Given the description of an element on the screen output the (x, y) to click on. 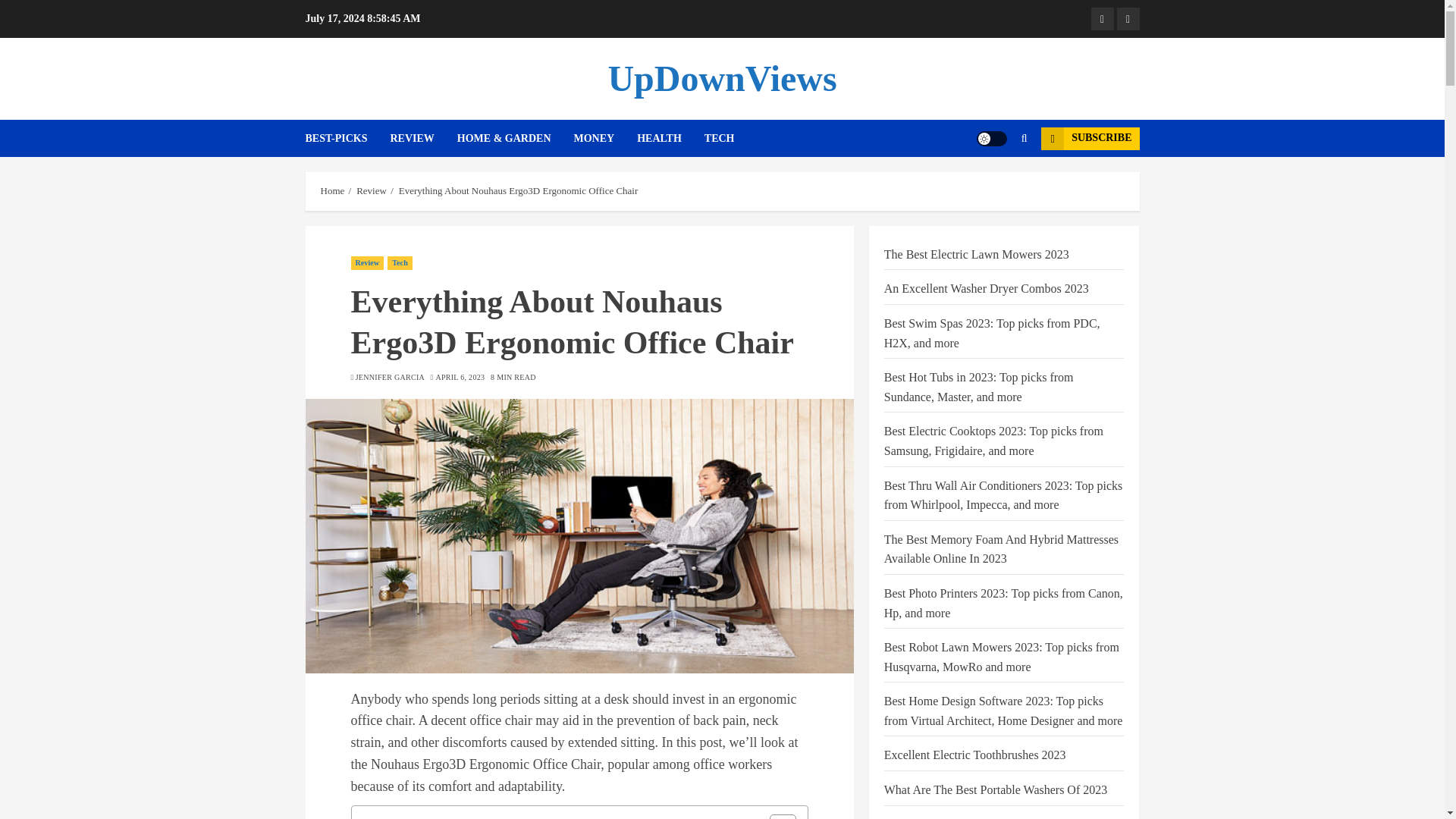
APRIL 6, 2023 (459, 377)
Review (371, 191)
Home (331, 191)
REVIEW (423, 138)
Review (367, 263)
Twitter Profile (1127, 18)
BEST-PICKS (347, 138)
Facebook Profile (1101, 18)
UpDownViews (721, 78)
Tech (399, 263)
JENNIFER GARCIA (390, 377)
Everything About Nouhaus Ergo3D Ergonomic Office Chair (518, 191)
HEALTH (670, 138)
SUBSCRIBE (1089, 138)
MONEY (605, 138)
